Given the description of an element on the screen output the (x, y) to click on. 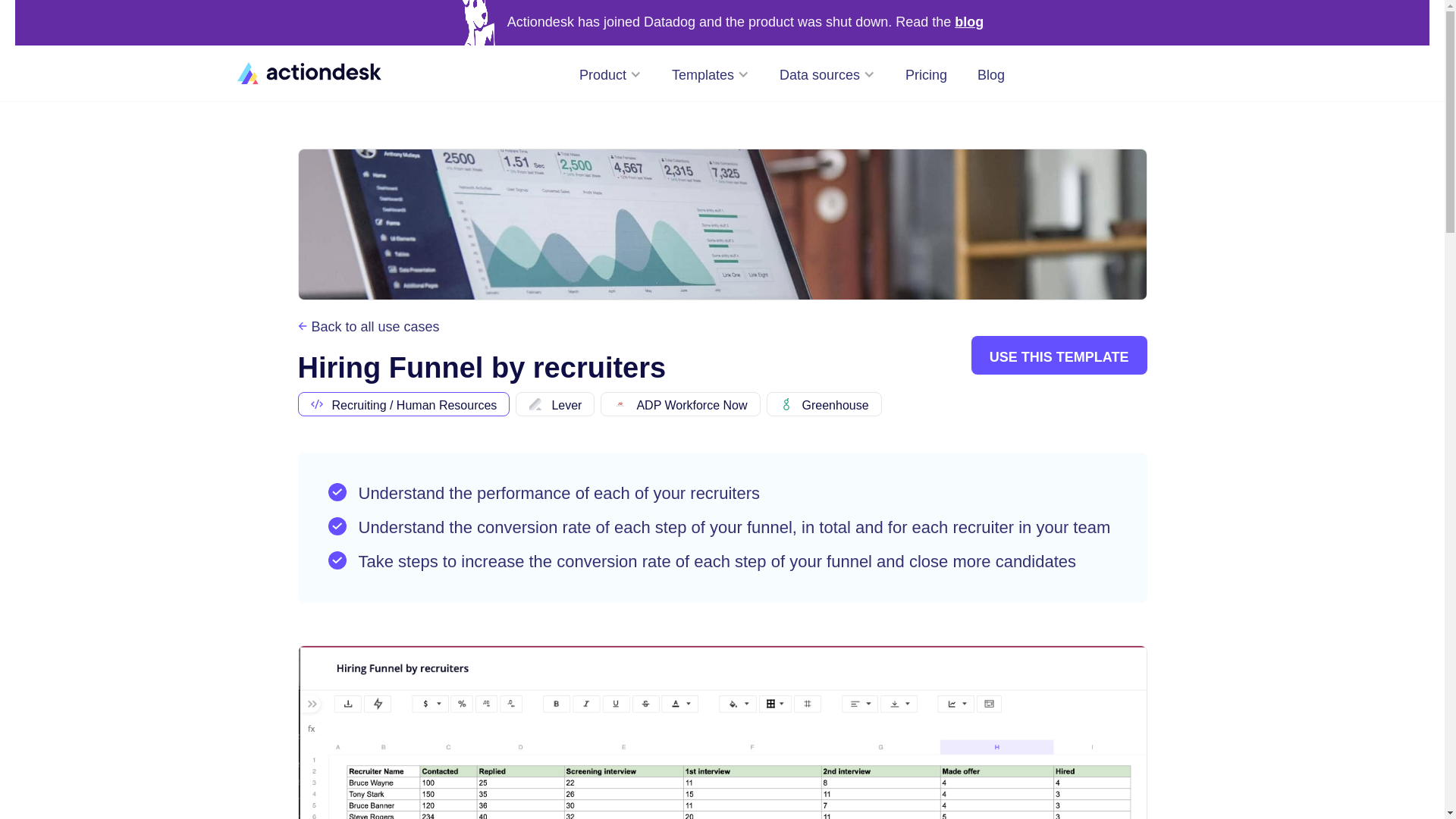
blog (969, 22)
